Given the description of an element on the screen output the (x, y) to click on. 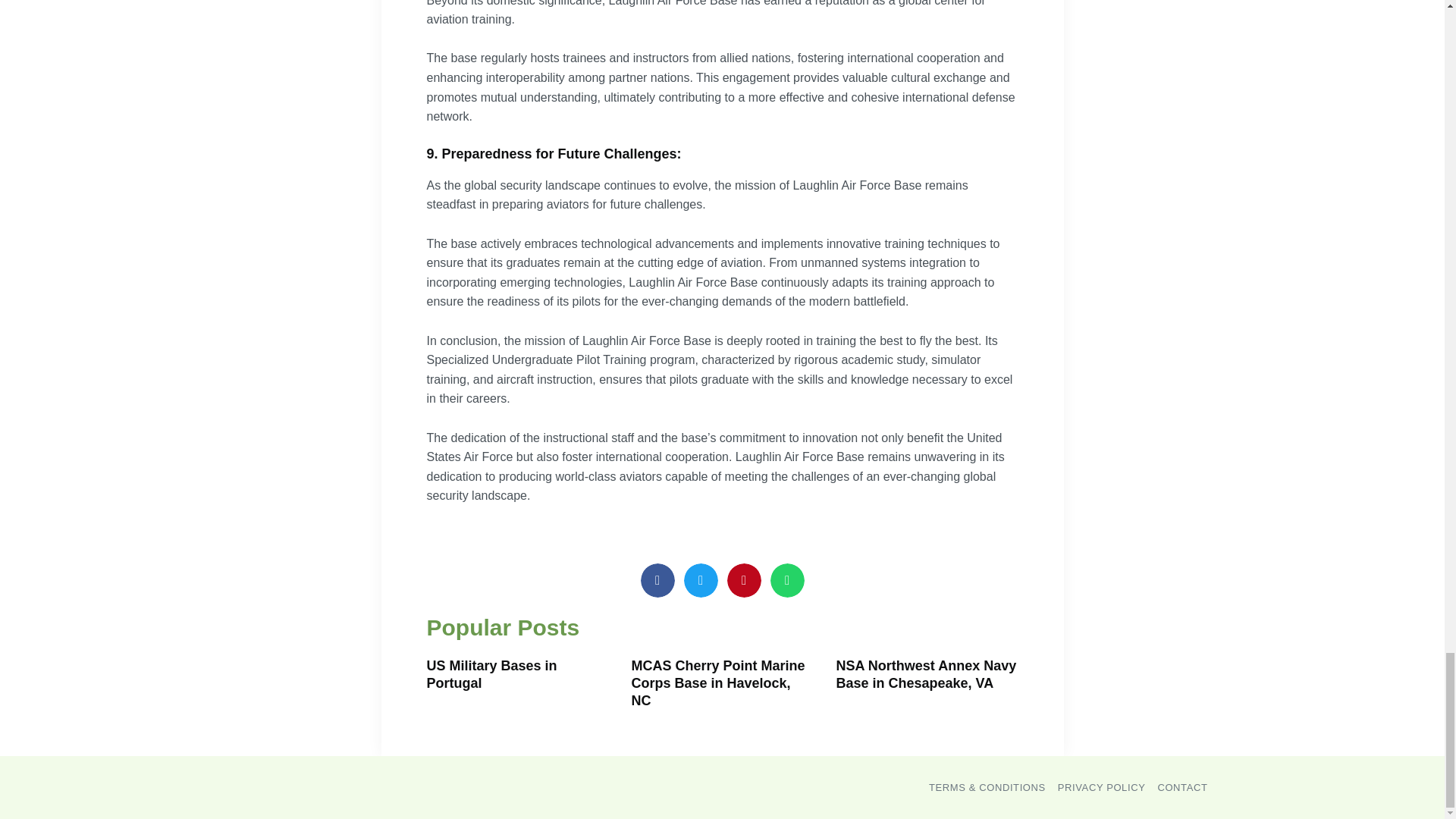
US Military Bases in Portugal (491, 674)
MCAS Cherry Point Marine Corps Base in Havelock, NC (717, 683)
PRIVACY POLICY (1101, 787)
CONTACT (1182, 787)
NSA Northwest Annex Navy Base in Chesapeake, VA (925, 674)
